Given the description of an element on the screen output the (x, y) to click on. 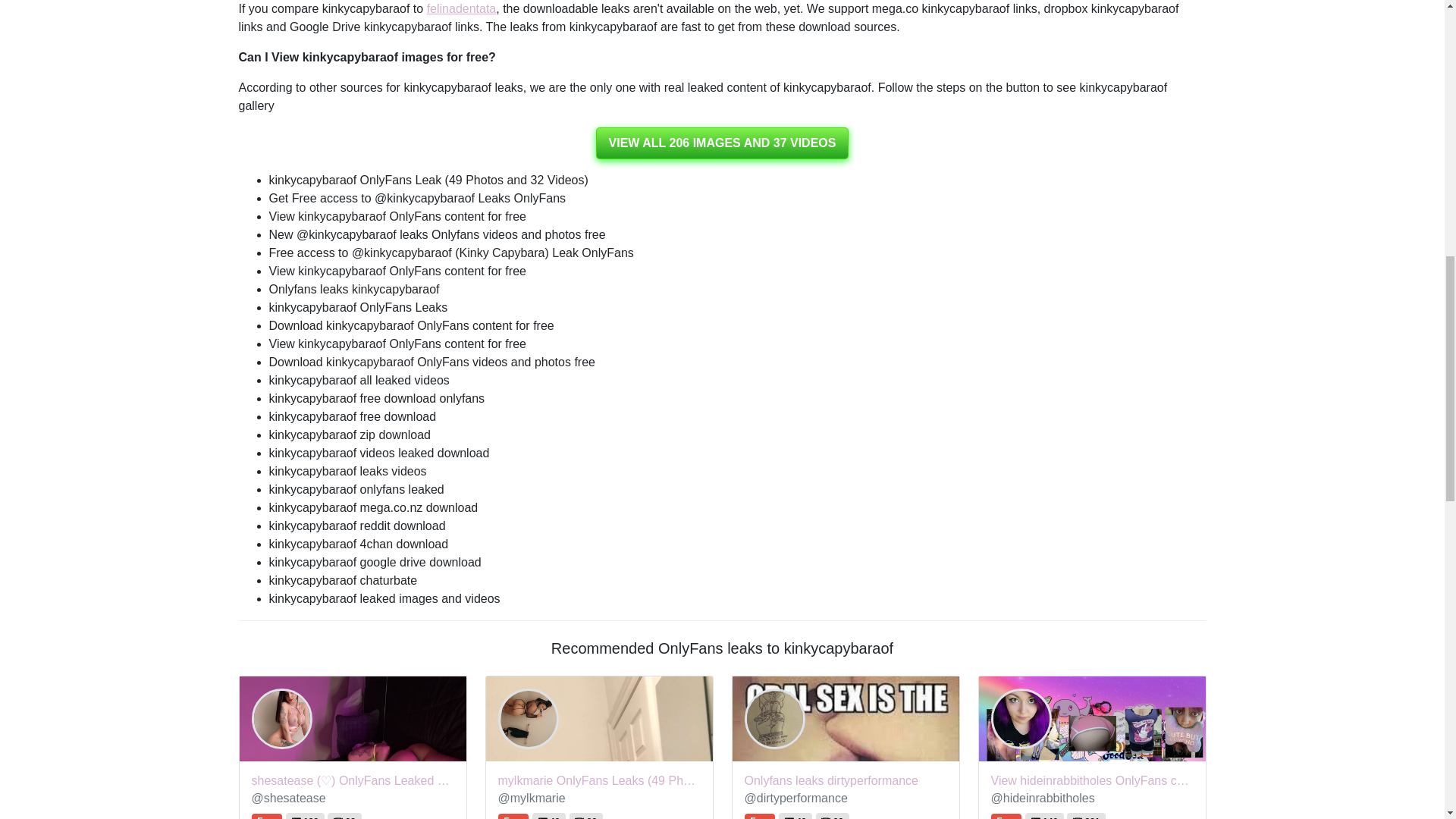
VIEW ALL 206 IMAGES AND 37 VIDEOS (721, 142)
felinadentata (461, 8)
